Given the description of an element on the screen output the (x, y) to click on. 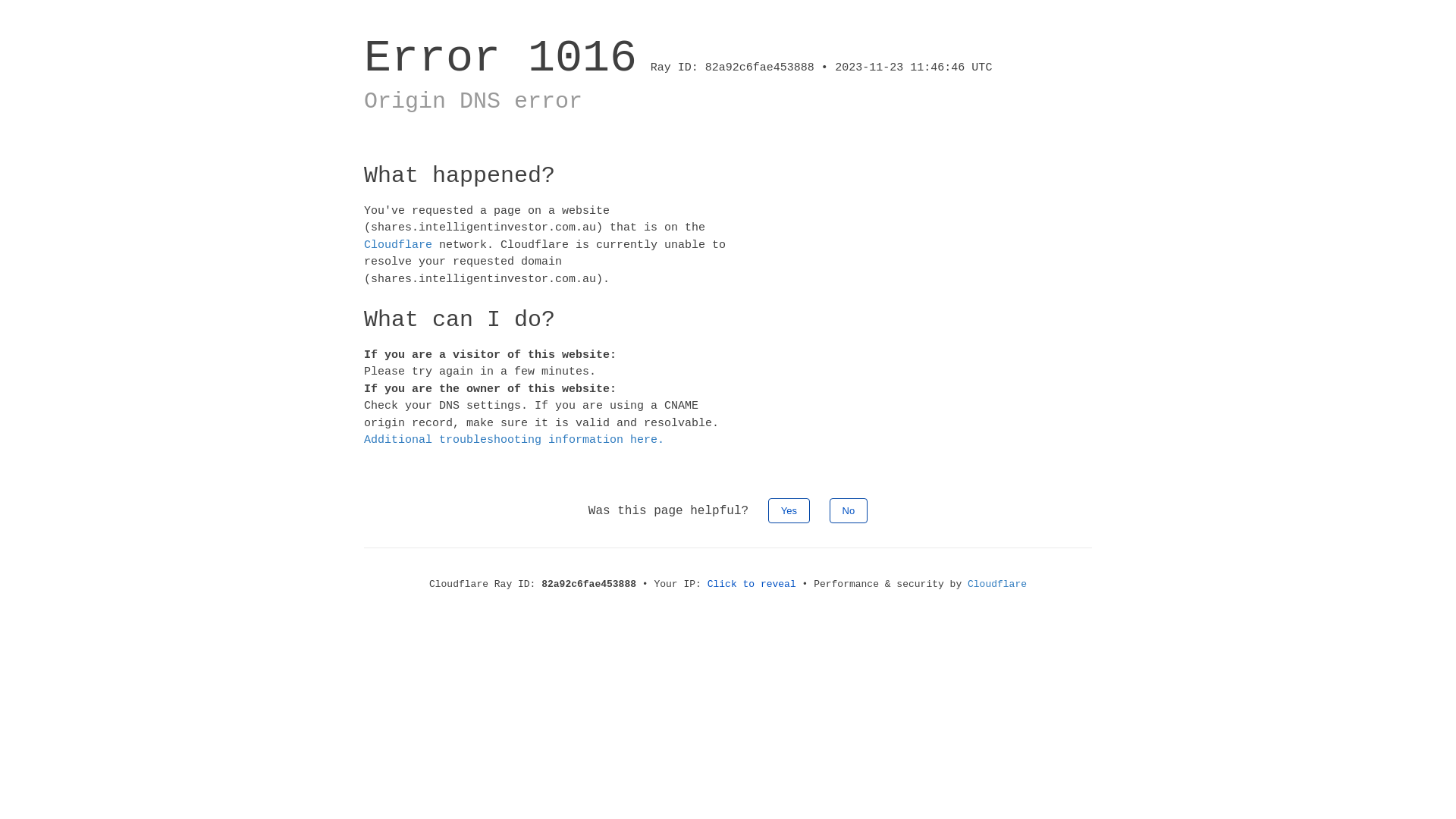
Yes Element type: text (788, 509)
Additional troubleshooting information here. Element type: text (514, 439)
Cloudflare Element type: text (996, 583)
No Element type: text (848, 509)
Cloudflare Element type: text (398, 244)
Click to reveal Element type: text (751, 583)
